Given the description of an element on the screen output the (x, y) to click on. 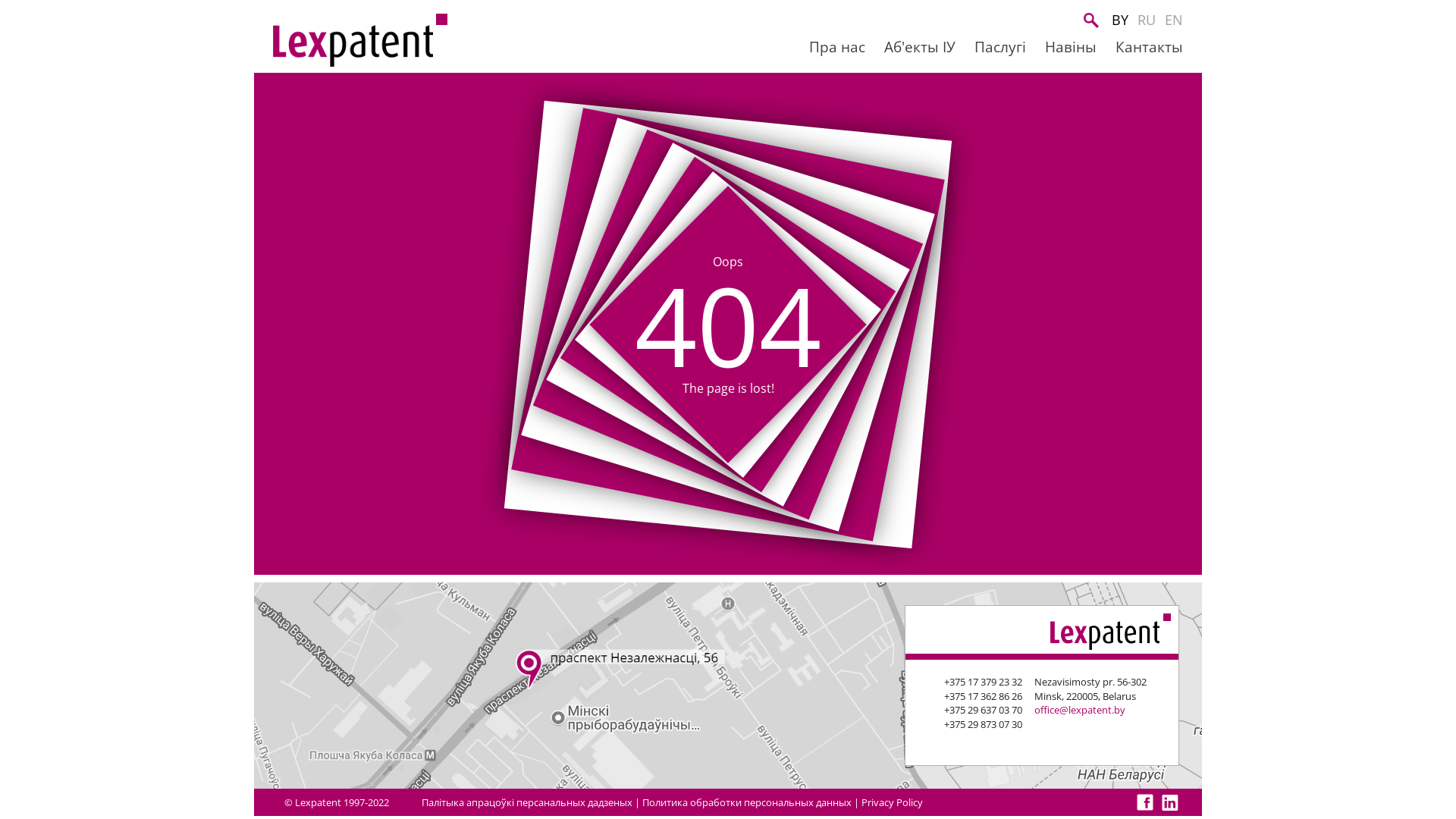
Privacy Policy Element type: text (891, 802)
office@lexpatent.by Element type: text (1079, 709)
